Given the description of an element on the screen output the (x, y) to click on. 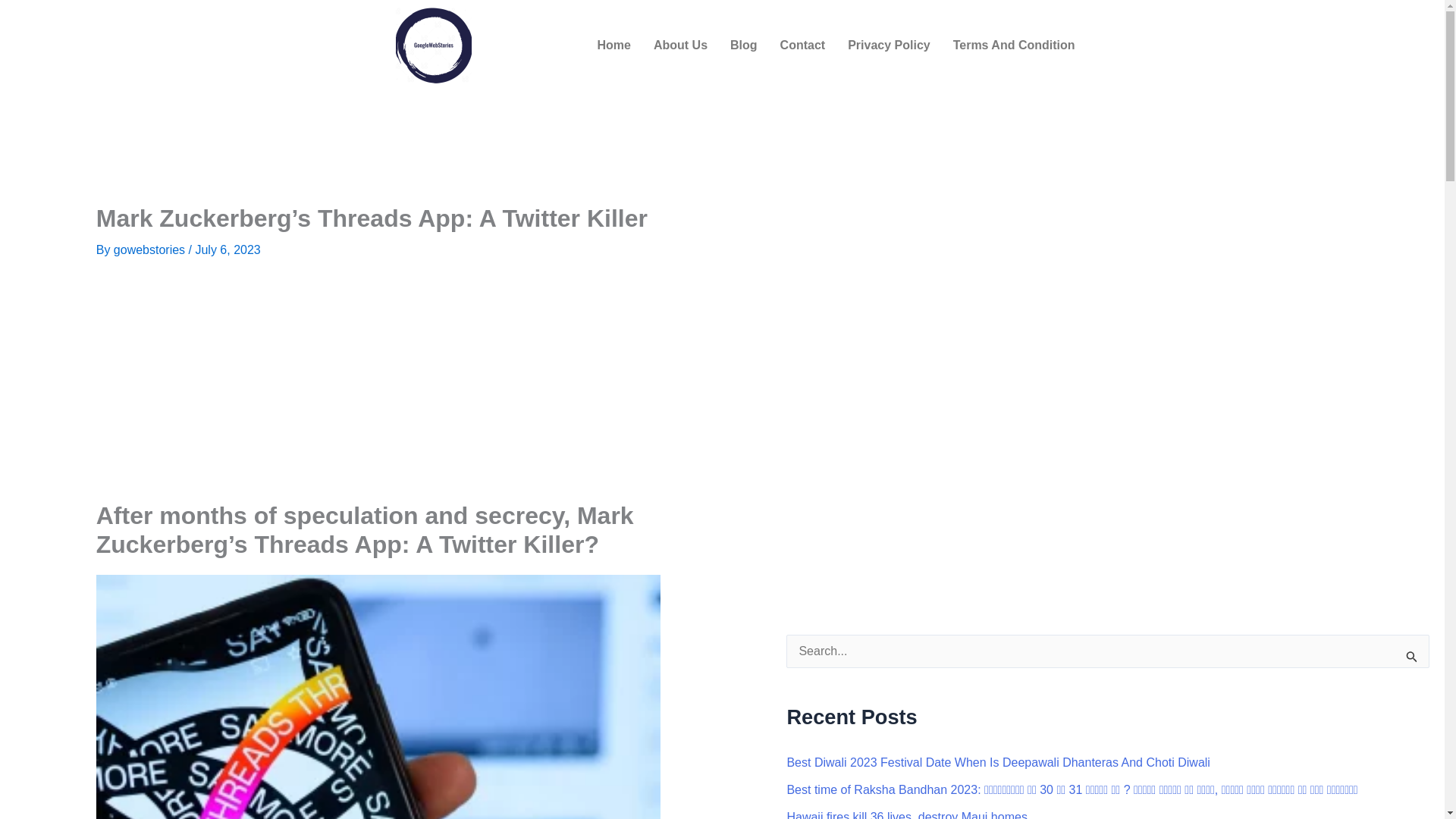
View all posts by gowebstories (151, 249)
Blog (743, 45)
About Us (680, 45)
gowebstories (151, 249)
Hawaii fires kill 36 lives, destroy Maui homes (906, 814)
Home (613, 45)
Terms And Condition (1014, 45)
Contact (802, 45)
Privacy Policy (888, 45)
